Given the description of an element on the screen output the (x, y) to click on. 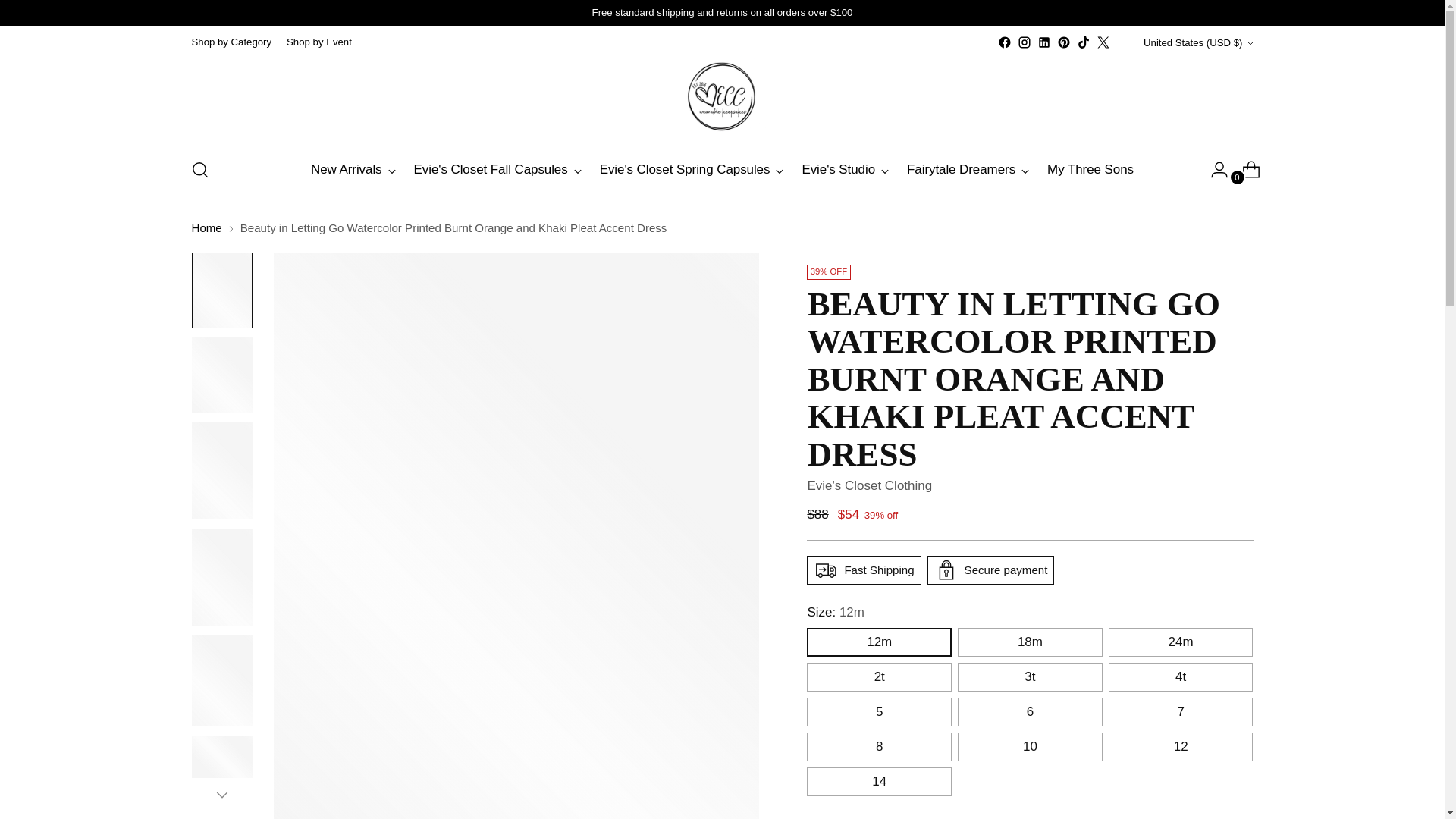
Evie's Closet Fall Capsules (496, 169)
Evie's Closet Clothing on LinkedIn (1043, 42)
New Arrivals (352, 169)
Evie's Closet Clothing on Instagram (1023, 42)
Evie's Closet Spring Capsules (691, 169)
Evie's Closet Clothing on Tiktok (1083, 42)
Shop by Category (230, 41)
Evie's Closet Clothing on Pinterest (1063, 42)
Shop by Event (319, 41)
